Given the description of an element on the screen output the (x, y) to click on. 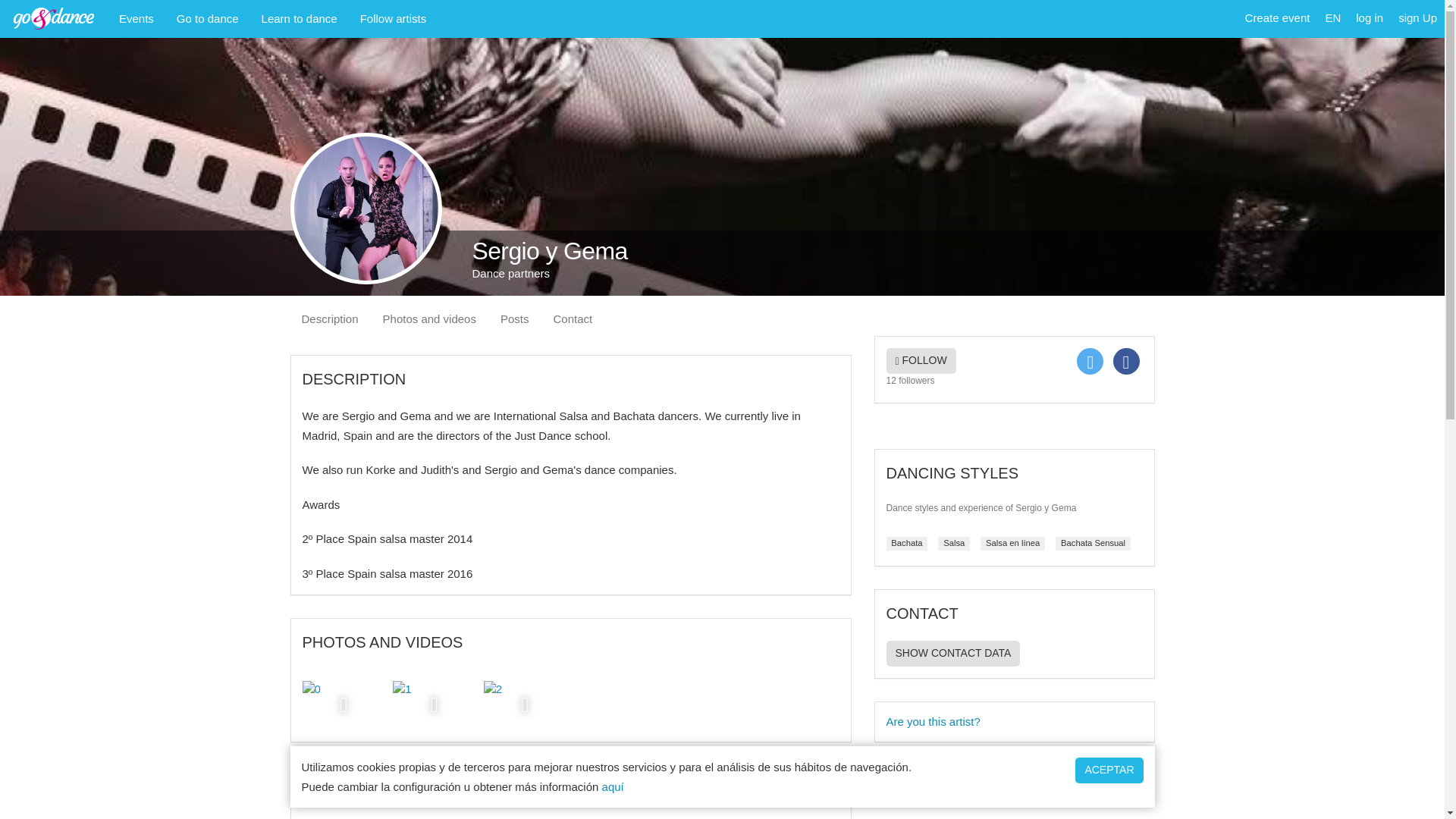
Description (329, 318)
log in (1369, 18)
Follow artists (393, 18)
FOLLOW (920, 360)
Go to dance (207, 18)
ACEPTAR (1108, 769)
Events (136, 18)
Learn to dance (299, 18)
Contact (572, 318)
Photos and videos (429, 318)
Photos and videos (429, 318)
Create event (1277, 18)
Posts (514, 318)
Are you this artist? (1013, 722)
Posts (514, 318)
